Given the description of an element on the screen output the (x, y) to click on. 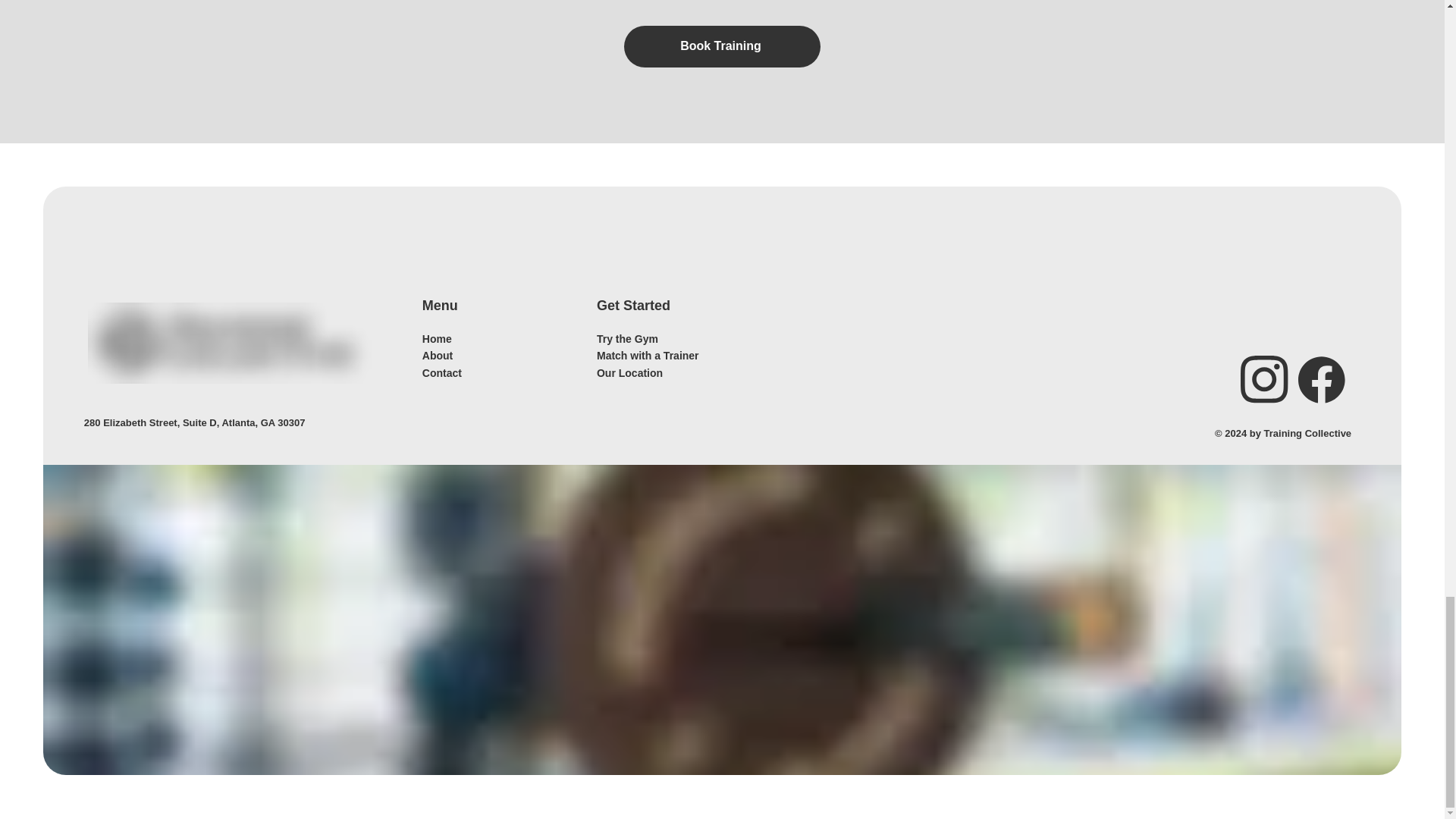
Try the Gym (627, 338)
Our Location (629, 372)
About (437, 355)
Book Training (722, 46)
Home (436, 338)
Contact (441, 372)
Match with a Trainer (647, 355)
